Given the description of an element on the screen output the (x, y) to click on. 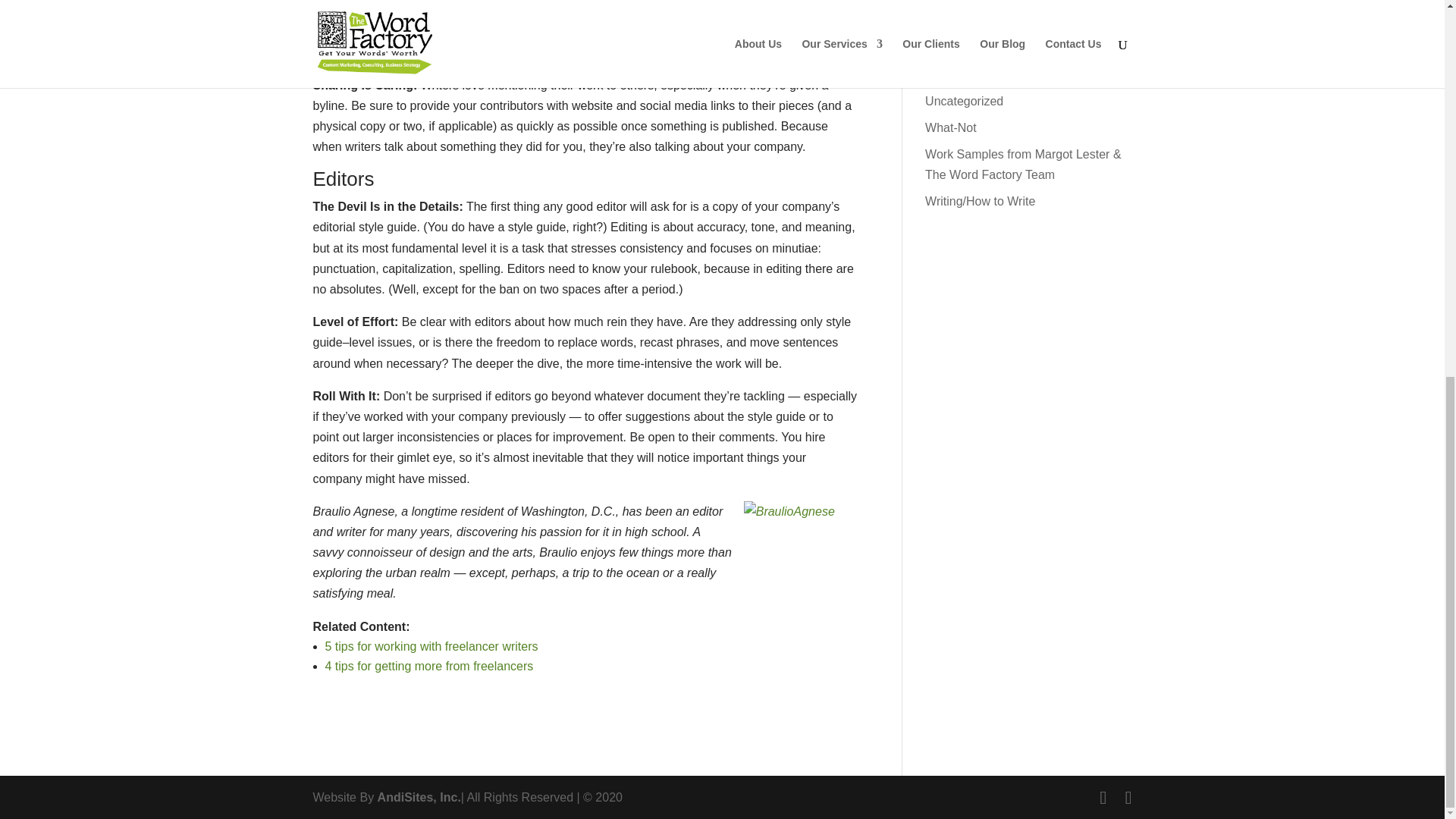
5 tips for working with freelancer writers (430, 645)
Process (946, 0)
4 tips for getting more from freelancers (428, 666)
